Given the description of an element on the screen output the (x, y) to click on. 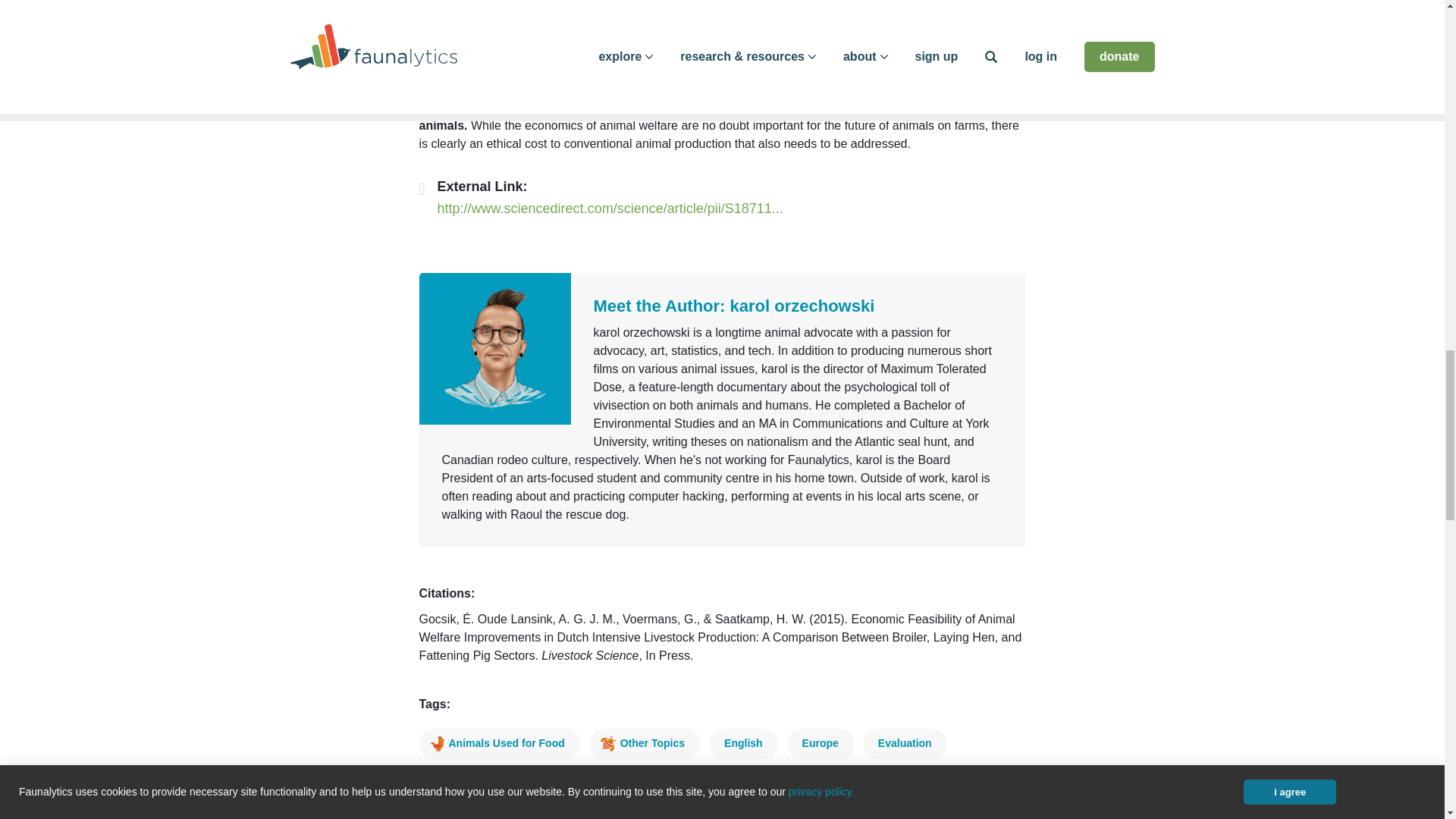
Posts by karol orzechowski (802, 305)
